Given the description of an element on the screen output the (x, y) to click on. 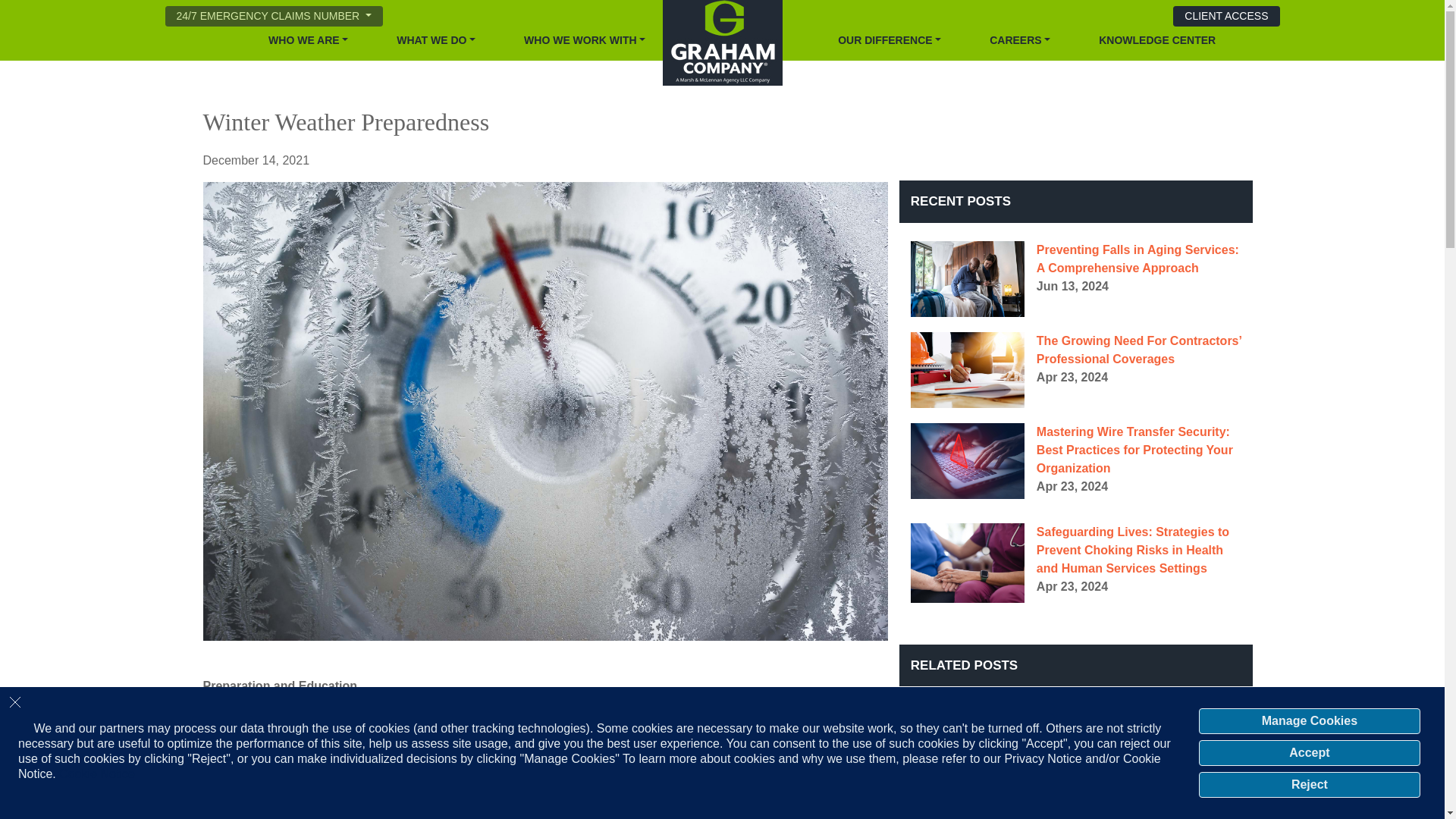
Accept (1309, 752)
Cookie Notice (97, 774)
WHO WE WORK WITH (584, 40)
CLIENT ACCESS (1226, 15)
OUR DIFFERENCE (889, 40)
Manage Cookies (1309, 720)
Reject (1309, 784)
CAREERS (1019, 40)
WHAT WE DO (435, 40)
WHO WE ARE (308, 40)
